Given the description of an element on the screen output the (x, y) to click on. 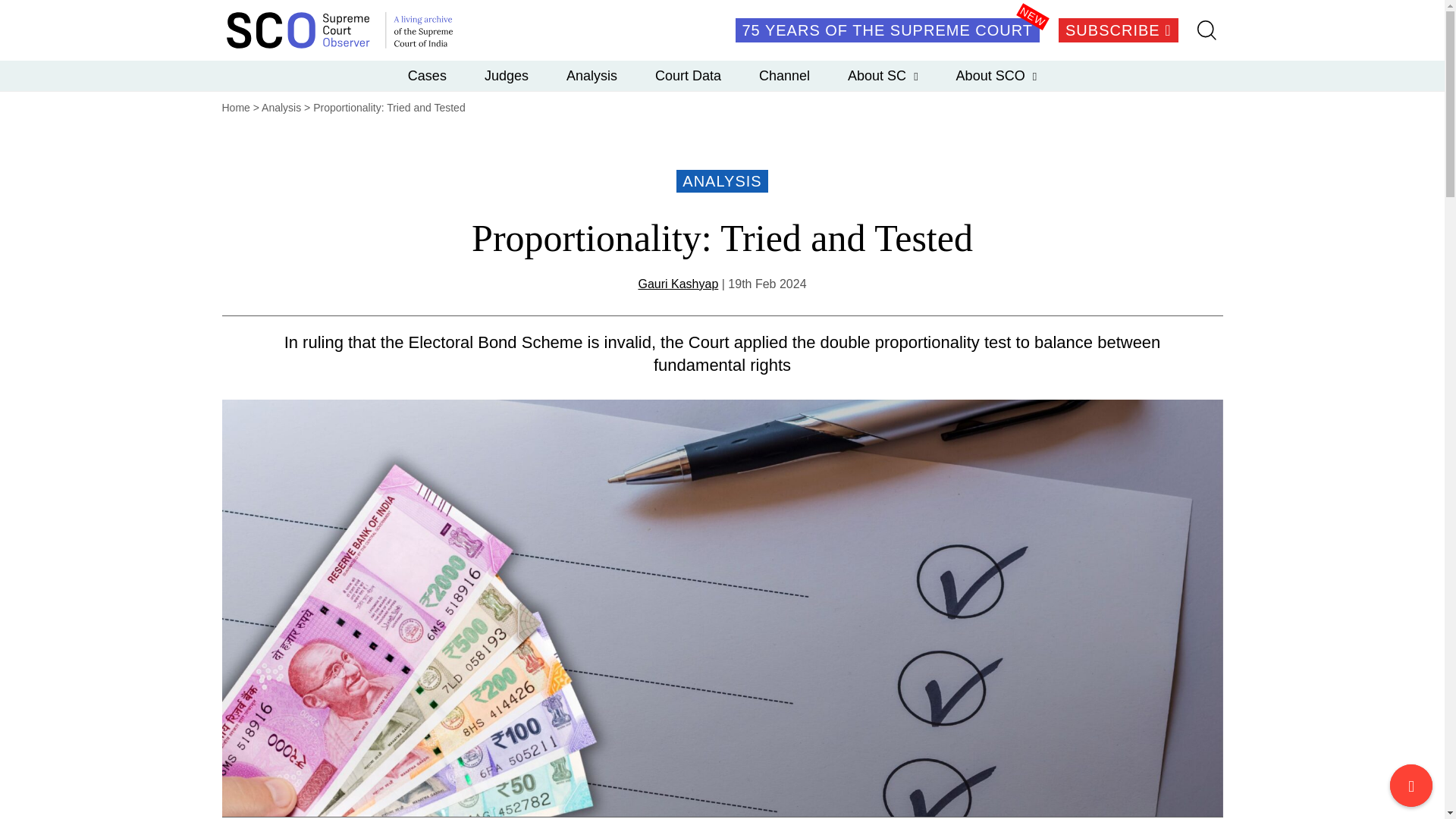
Analysis (281, 107)
About SCO (996, 75)
Channel (783, 75)
Cases (426, 75)
Analysis (591, 75)
Gauri Kashyap (677, 283)
SUBSCRIBE (1117, 30)
Court Data (687, 75)
75 YEARS OF THE SUPREME COURT (888, 30)
Judges (506, 75)
